Given the description of an element on the screen output the (x, y) to click on. 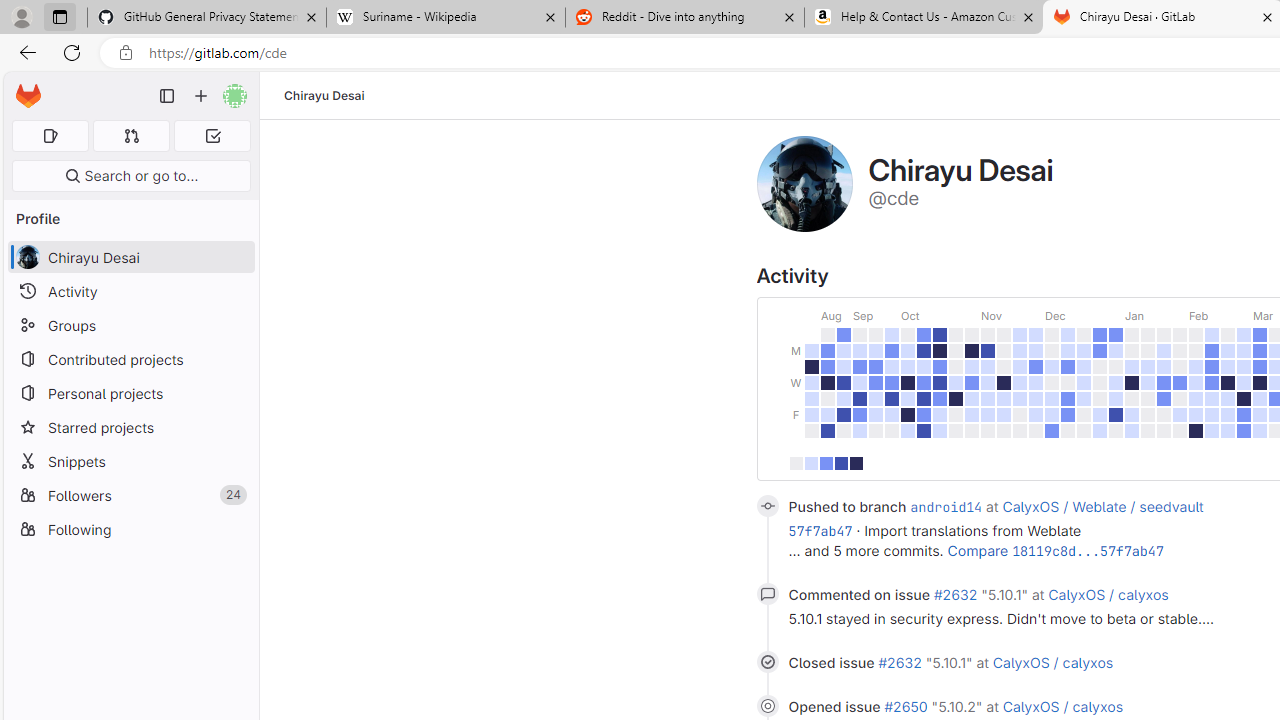
Activity (130, 291)
30+ contributions (855, 463)
Groups (130, 325)
Starred projects (130, 427)
CalyxOS / calyxos (1062, 705)
